Given the description of an element on the screen output the (x, y) to click on. 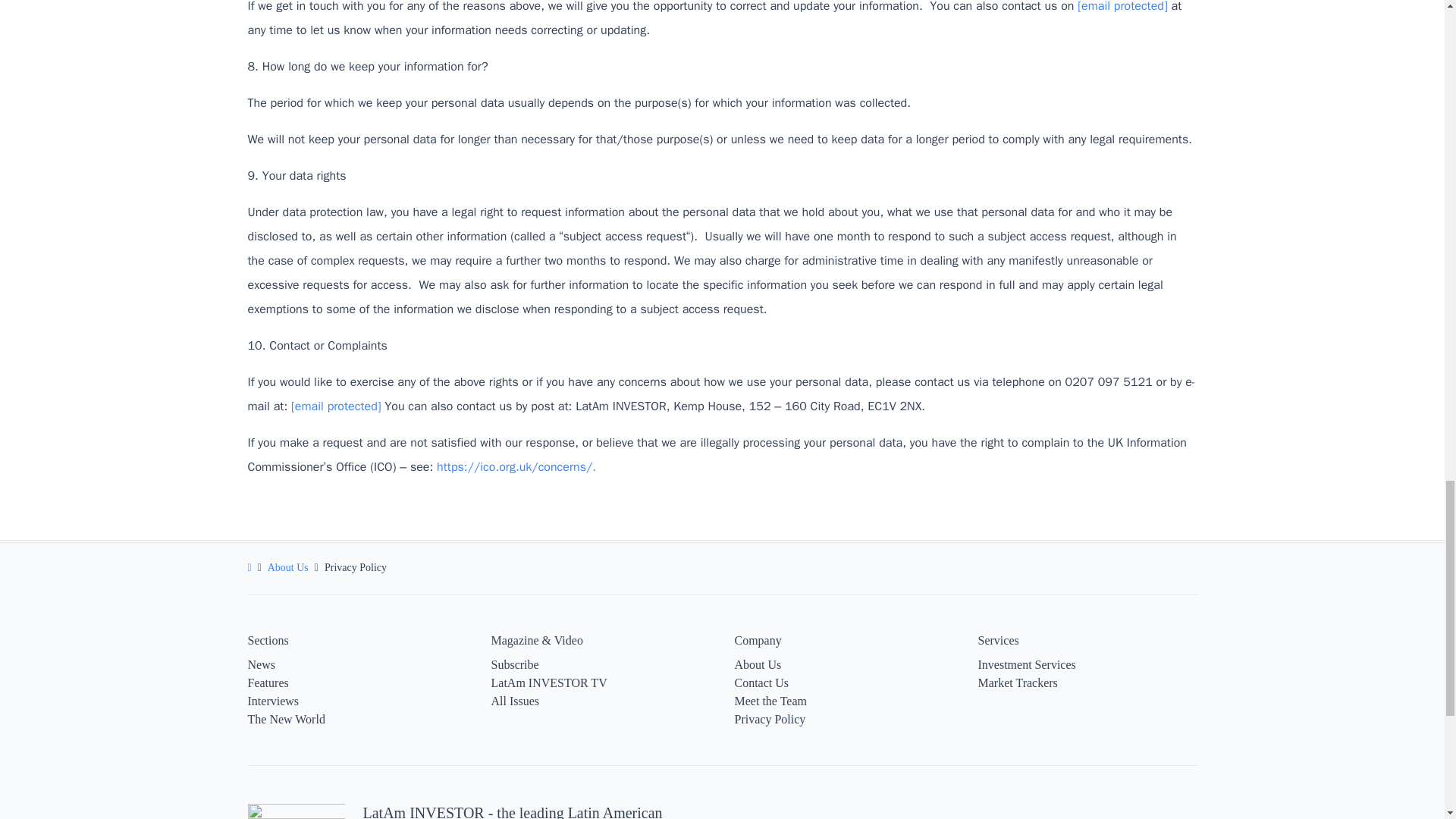
The New World (285, 718)
Interviews (272, 700)
Subscribe (515, 664)
Privacy Policy (769, 718)
All Issues (516, 700)
About Us (287, 567)
Features (267, 682)
News (261, 664)
Investment Services (1026, 664)
Contact Us (761, 682)
LatAm INVESTOR TV (549, 682)
Meet the Team (769, 700)
Market Trackers (1018, 682)
About Us (756, 664)
